Given the description of an element on the screen output the (x, y) to click on. 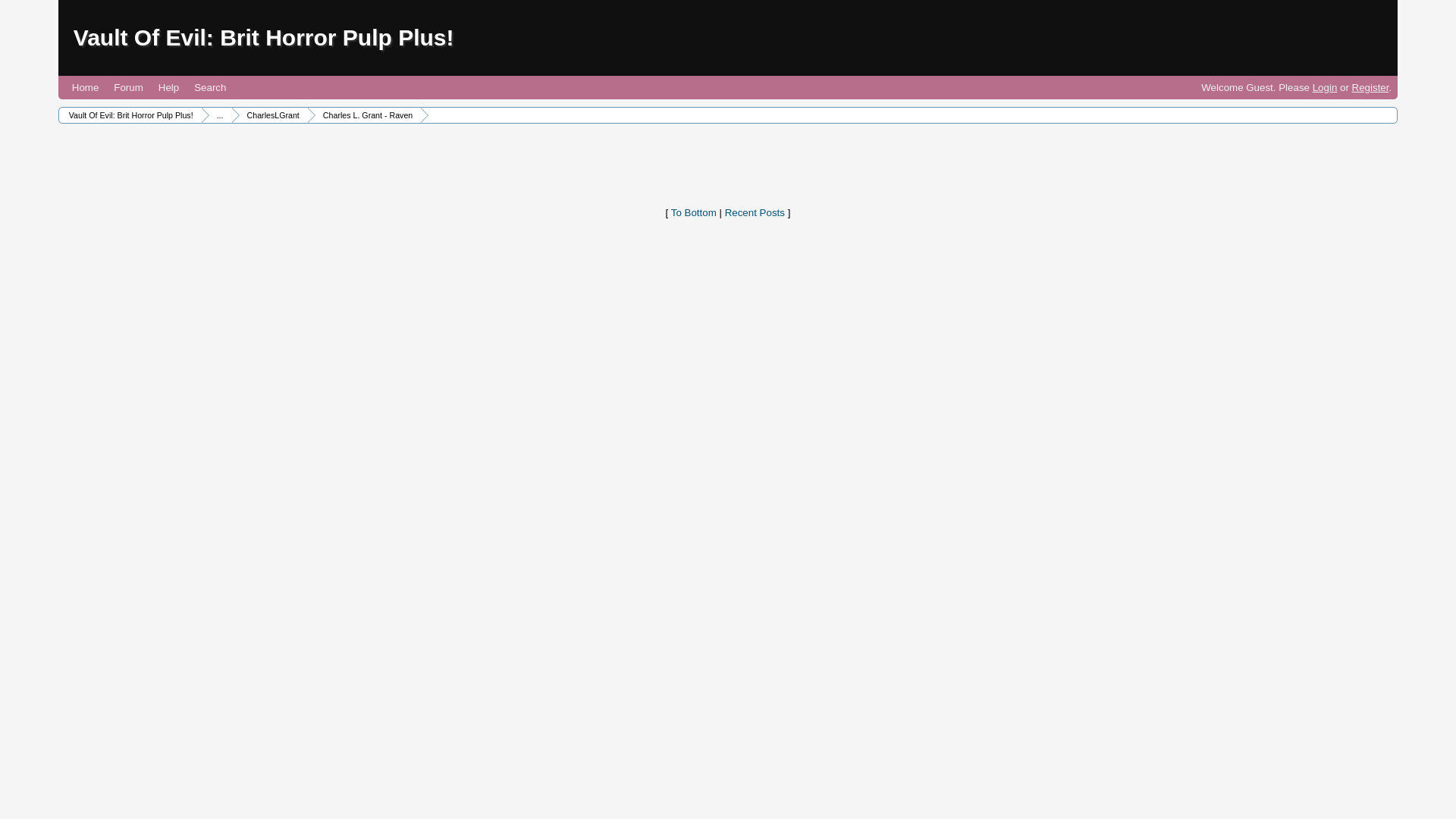
Search (209, 87)
Help (168, 87)
Register (1370, 87)
Vault Of Evil: Brit Horror Pulp Plus! (264, 37)
American Gothic (218, 114)
Home (85, 87)
... (218, 114)
Login (1325, 87)
CharlesLGrant (271, 114)
Forum (127, 87)
Charles L. Grant - Raven (365, 114)
Vault Of Evil: Brit Horror Pulp Plus! (129, 114)
